Given the description of an element on the screen output the (x, y) to click on. 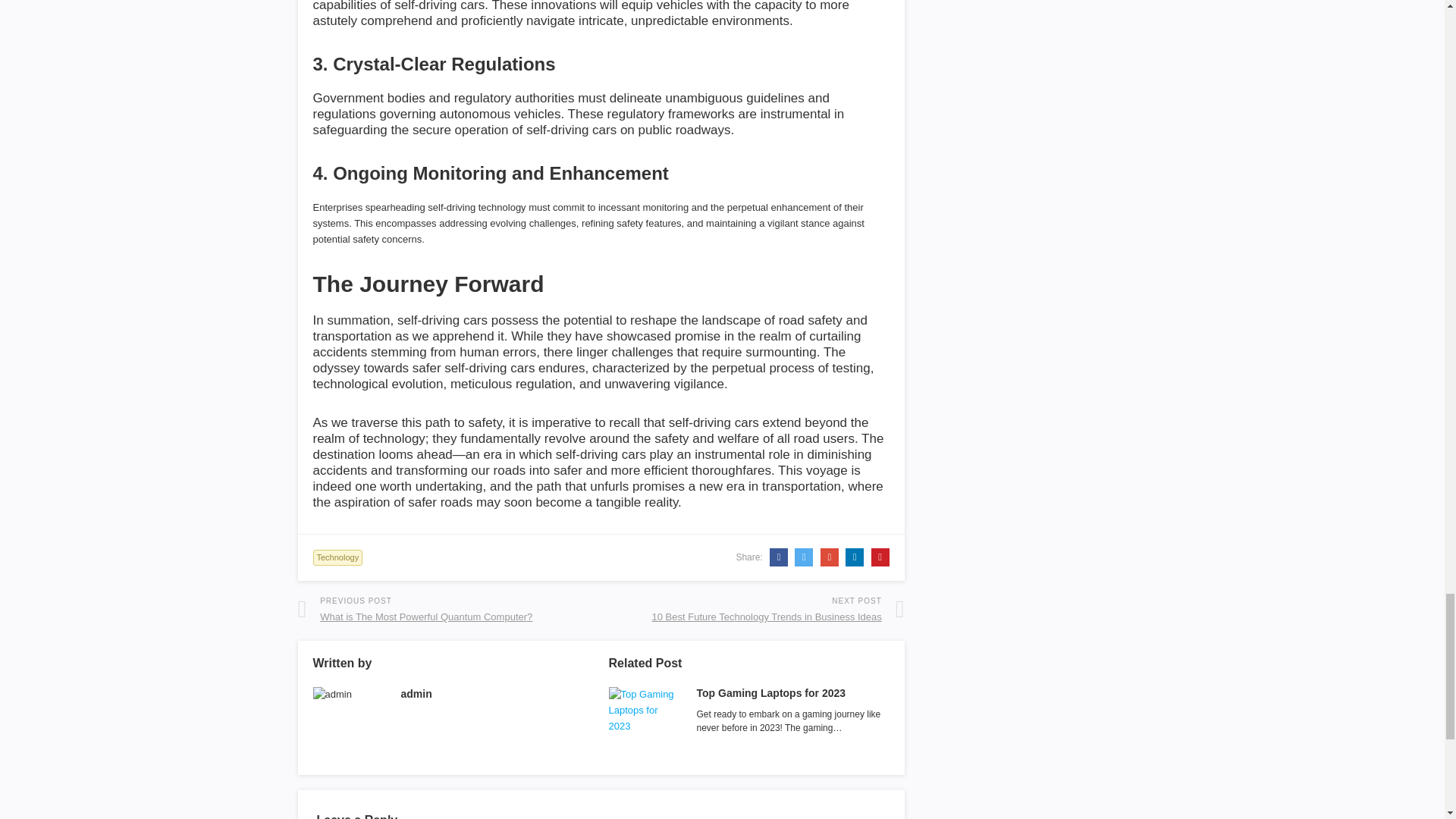
Technology (337, 557)
